Given the description of an element on the screen output the (x, y) to click on. 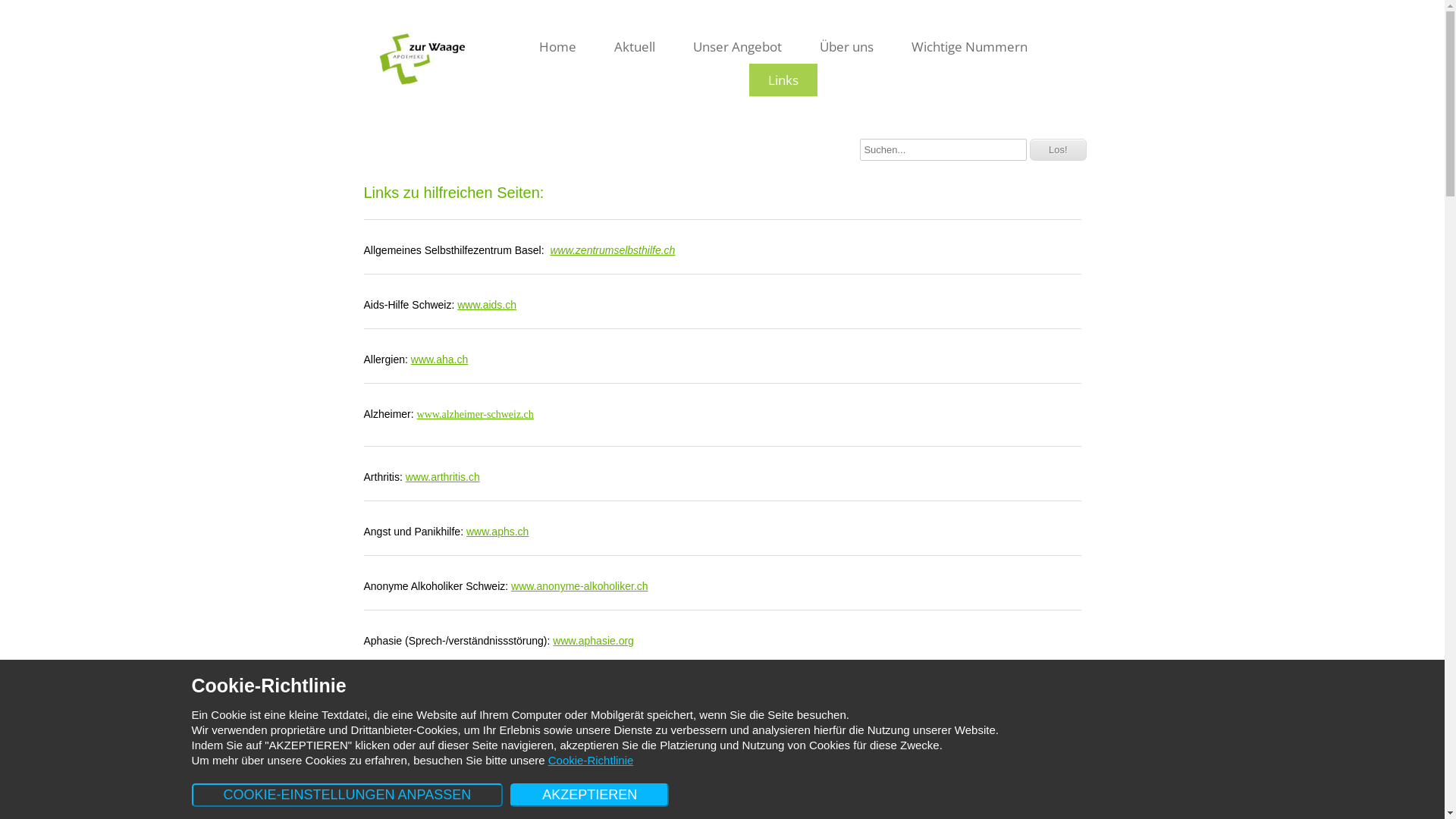
Unser Angebot Element type: text (737, 46)
Cookie-Richtlinie Element type: text (590, 759)
www.elpos.ch Element type: text (635, 749)
Wichtige Nummern Element type: text (969, 46)
www.zentrumselbsthilfe.ch Element type: text (611, 250)
AKZEPTIEREN Element type: text (589, 794)
www.arthritis.ch Element type: text (442, 476)
www.agile.ch Element type: text (552, 804)
www.alzheimer-schweiz.ch Element type: text (475, 414)
www.anonyme-alkoholiker.ch Element type: text (579, 586)
www.astrea-apotheke.ch Element type: text (505, 695)
COOKIE-EINSTELLUNGEN ANPASSEN Element type: text (346, 794)
www.aphasie.org Element type: text (592, 640)
Aktuell Element type: text (634, 46)
Home Element type: text (557, 46)
www.aids.ch Element type: text (486, 304)
Los! Element type: text (1057, 149)
www.aha.ch Element type: text (439, 359)
www.aphs.ch Element type: text (497, 531)
Links Element type: text (783, 80)
